Given the description of an element on the screen output the (x, y) to click on. 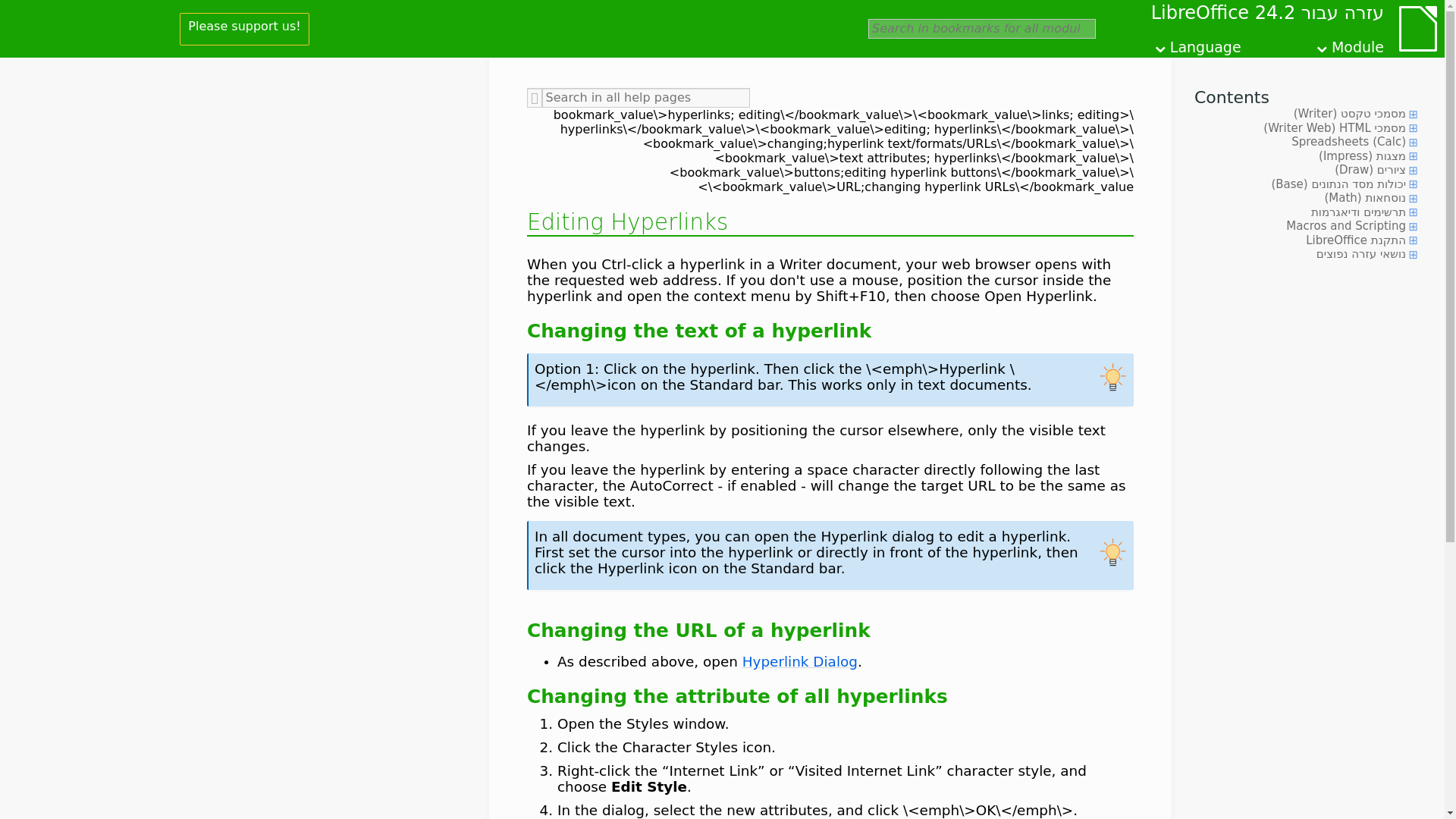
Module (1348, 44)
Language (1196, 44)
